Given the description of an element on the screen output the (x, y) to click on. 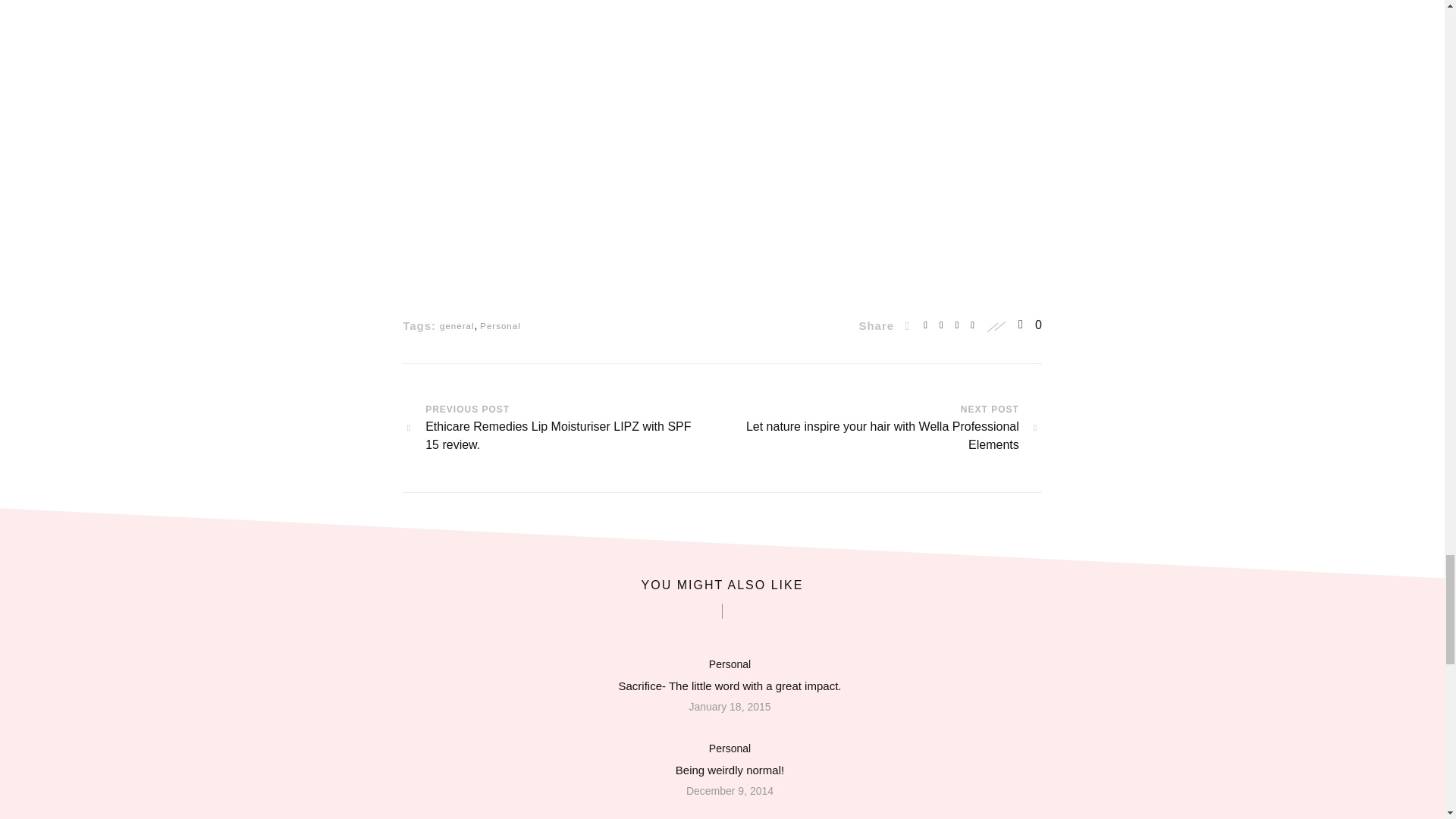
Personal (730, 748)
Being weirdly normal! (730, 770)
0 (1029, 324)
Personal (730, 664)
general (456, 326)
Personal (499, 326)
Like this (1029, 324)
Sacrifice- The little word with a great impact. (730, 685)
